Given the description of an element on the screen output the (x, y) to click on. 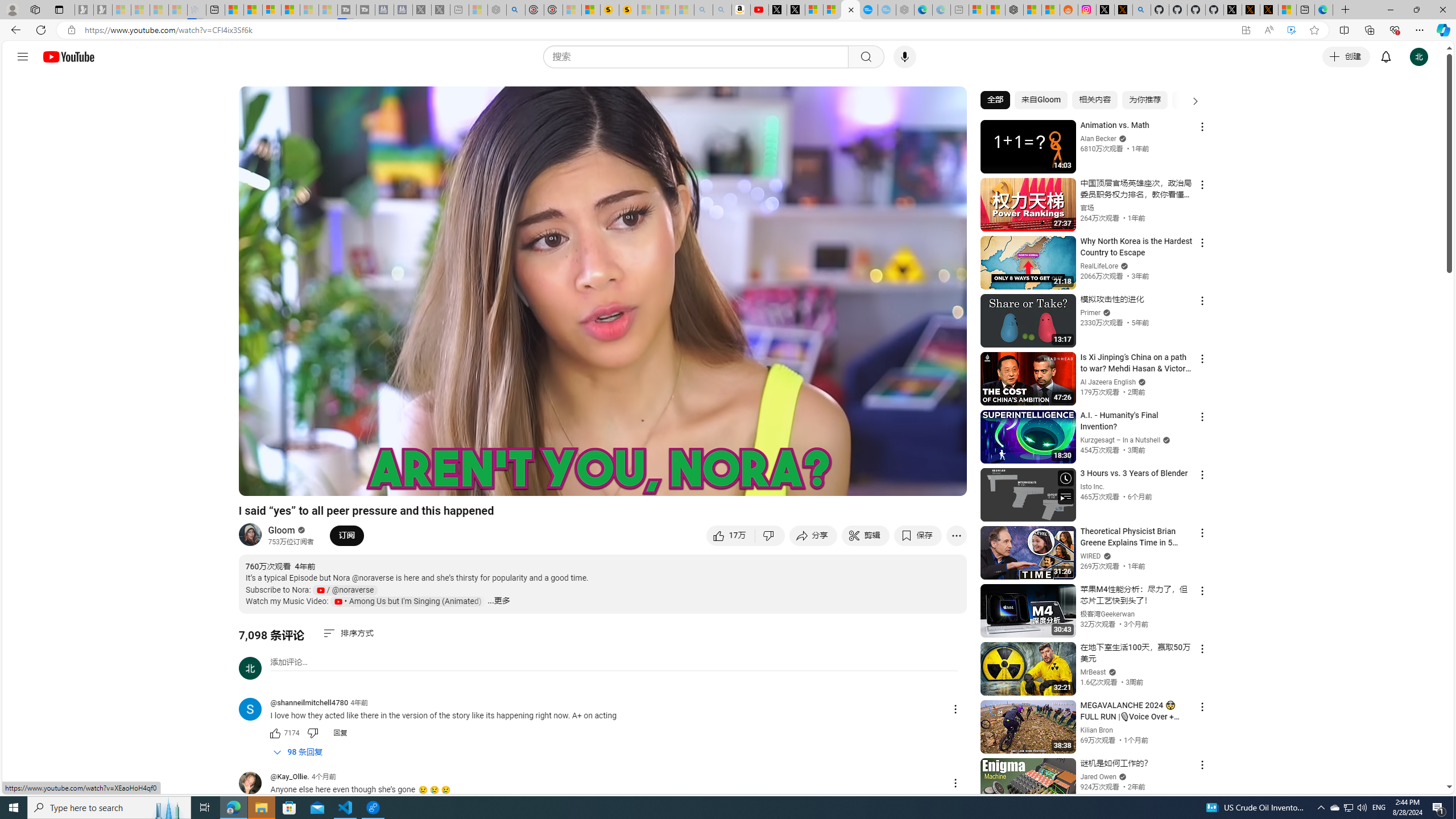
Shanghai, China Weather trends | Microsoft Weather (1050, 9)
Split screen (1344, 29)
App bar (728, 29)
help.x.com | 524: A timeout occurred (1123, 9)
App available. Install YouTube (1245, 29)
Microsoft Start - Sleeping (309, 9)
Address and search bar (658, 29)
